Given the description of an element on the screen output the (x, y) to click on. 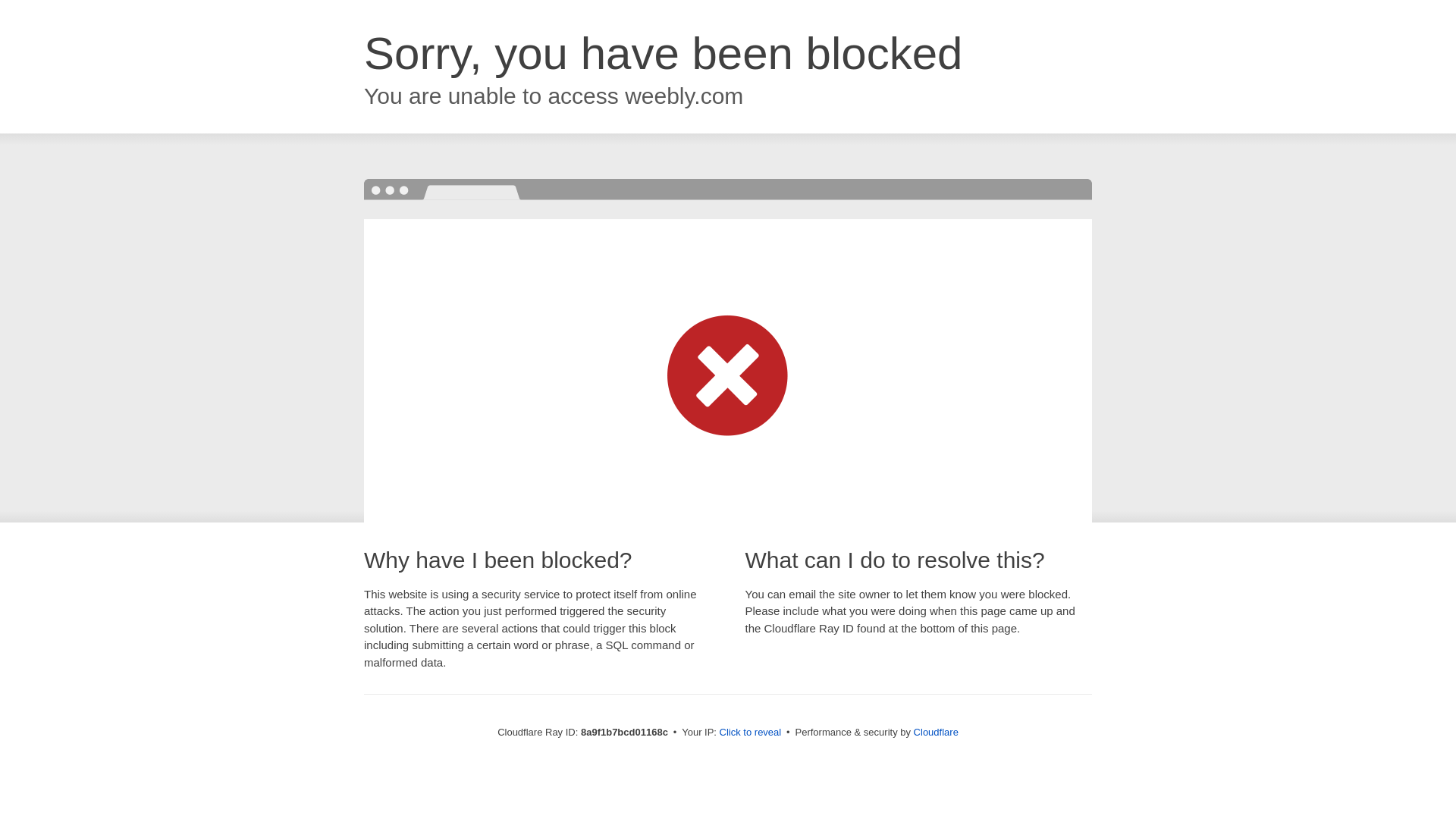
Cloudflare (936, 731)
Click to reveal (750, 732)
